Given the description of an element on the screen output the (x, y) to click on. 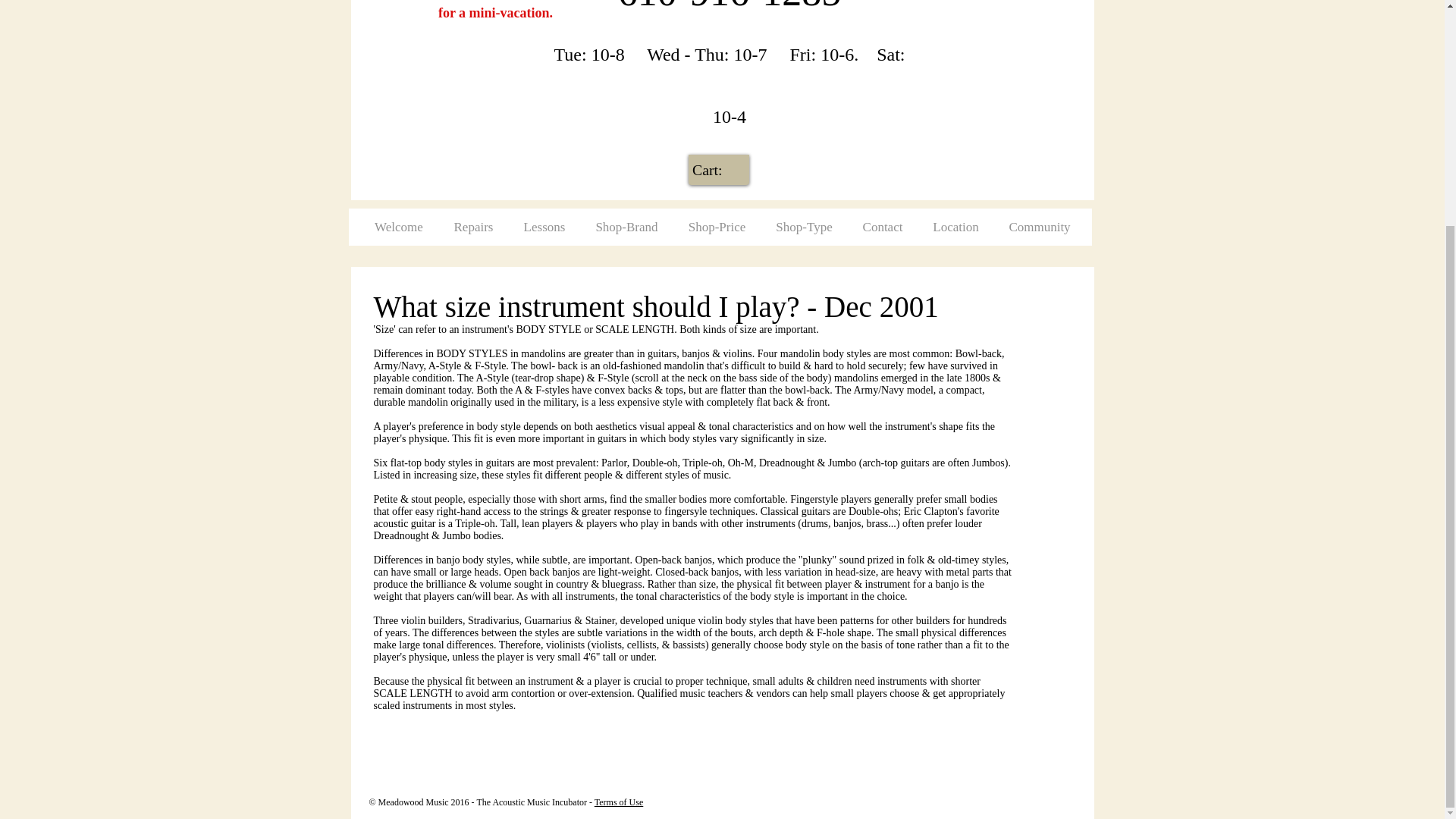
Location (954, 226)
Repairs (473, 226)
Shop-Type (804, 226)
Shop-Brand (626, 226)
Contact (882, 226)
Cart: (718, 170)
Welcome (399, 226)
Community (1038, 226)
Lessons (543, 226)
Terms of Use (618, 801)
